Given the description of an element on the screen output the (x, y) to click on. 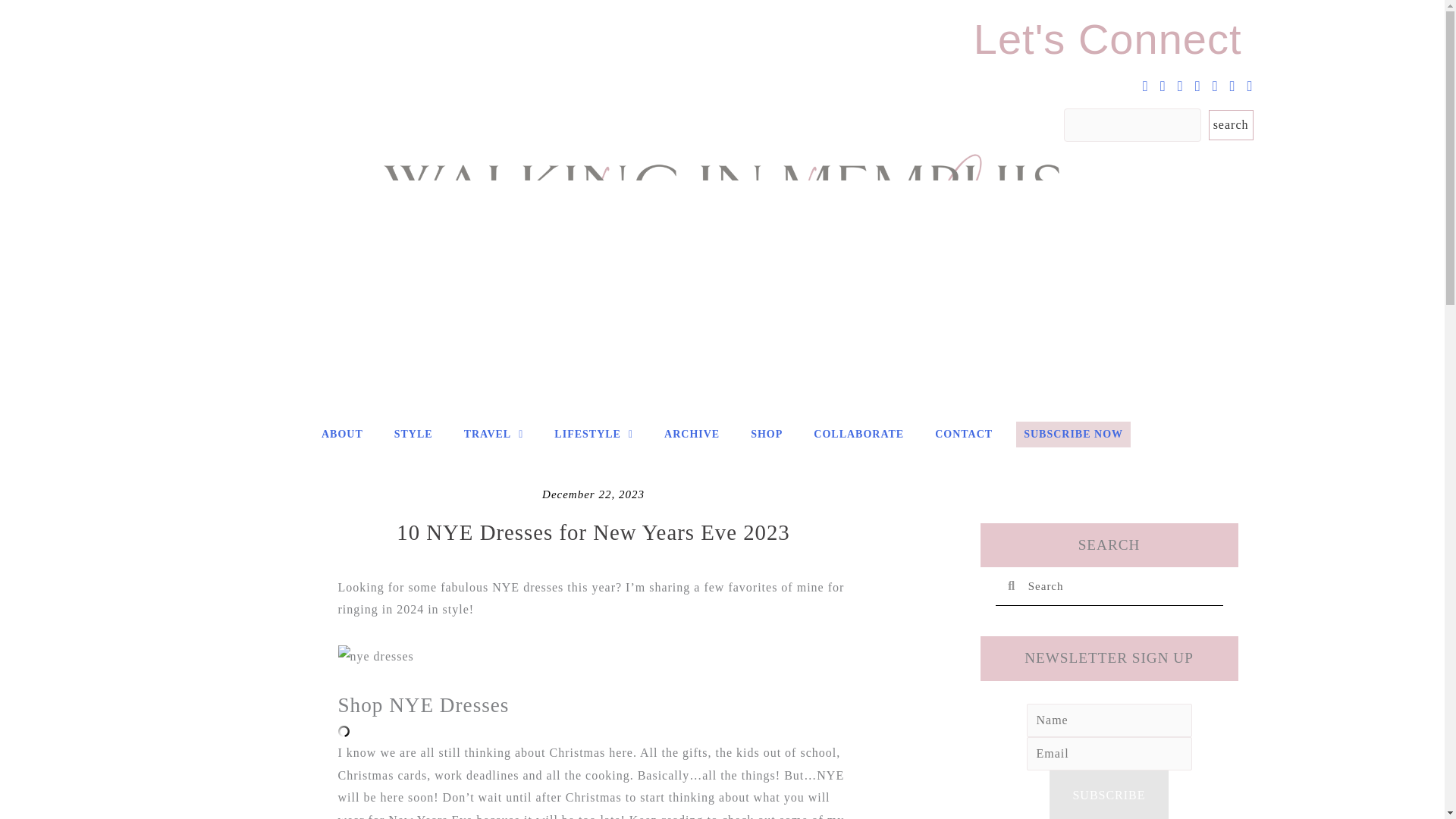
STYLE (414, 434)
ABOUT (342, 434)
SUBSCRIBE (1108, 794)
SHOP (766, 434)
CONTACT (963, 434)
Search (1118, 586)
TRAVEL (494, 434)
ARCHIVE (691, 434)
LIFESTYLE (593, 434)
